Given the description of an element on the screen output the (x, y) to click on. 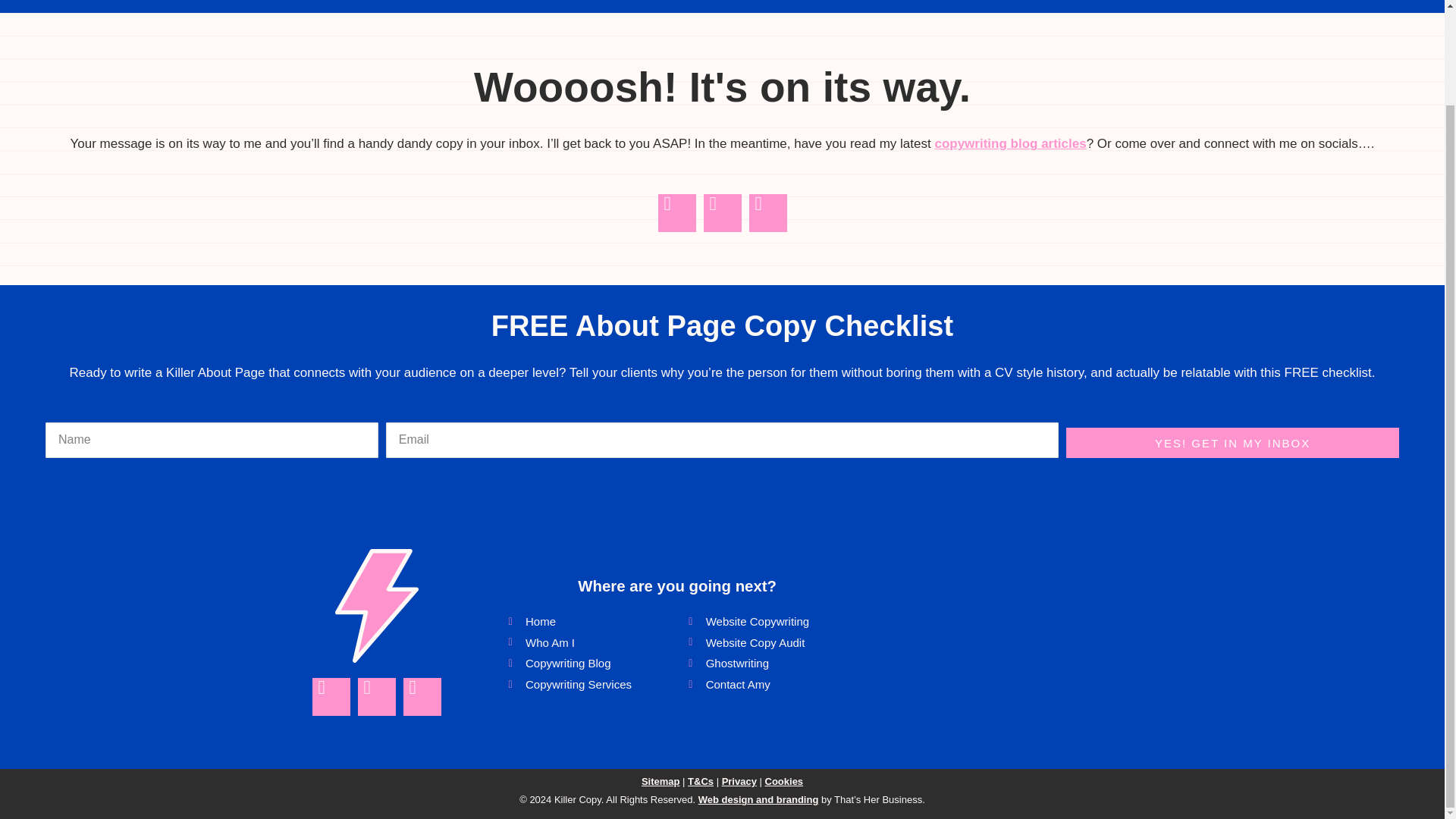
copywriting blog articles (1010, 143)
Facebook (676, 212)
